Given the description of an element on the screen output the (x, y) to click on. 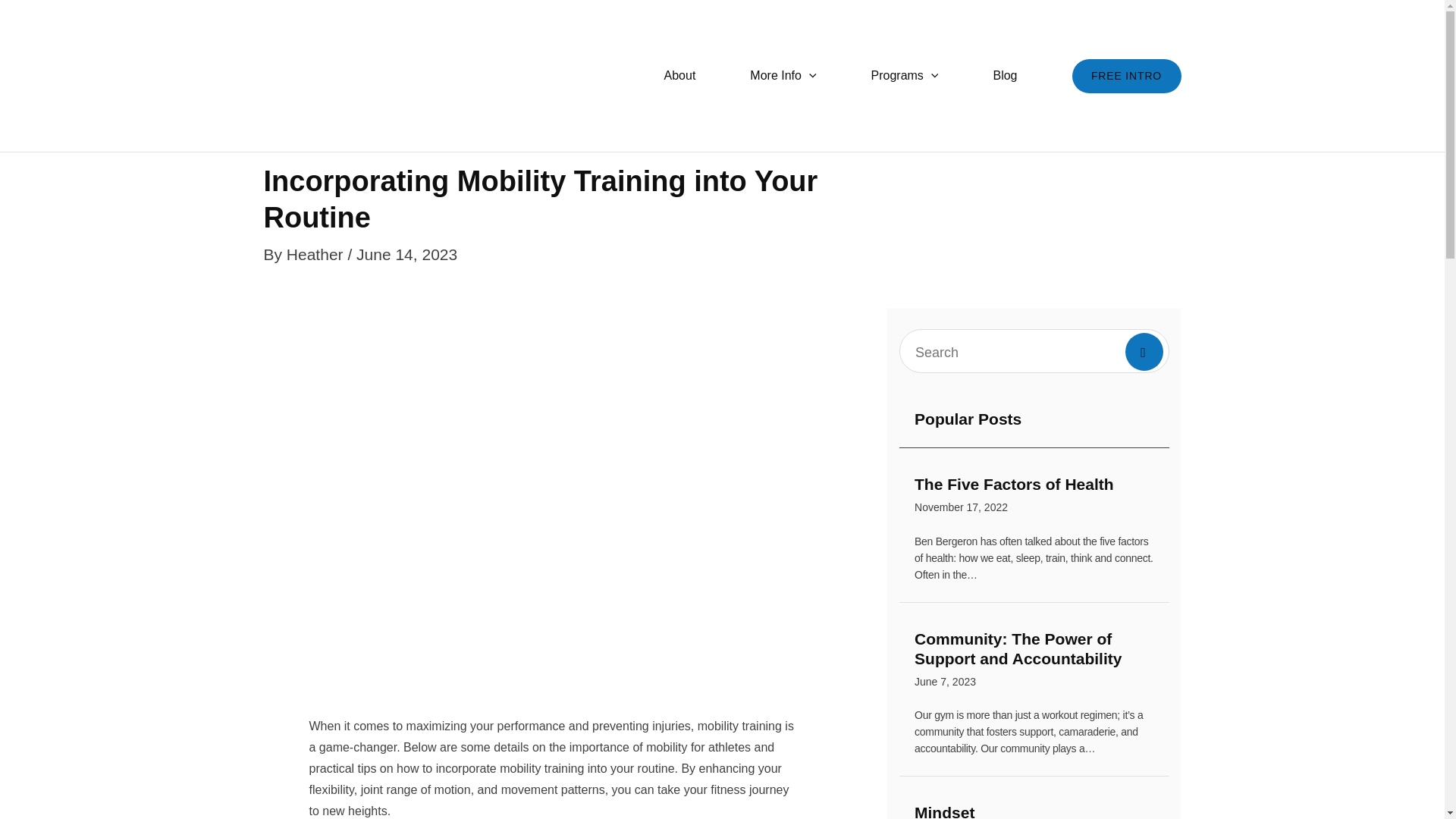
View all posts by Heather (316, 253)
Blog (1004, 75)
About (680, 75)
More Info (1034, 497)
Incorporating Mobility Training into Your Routine 2 (1034, 811)
FREE INTRO (782, 75)
